Given the description of an element on the screen output the (x, y) to click on. 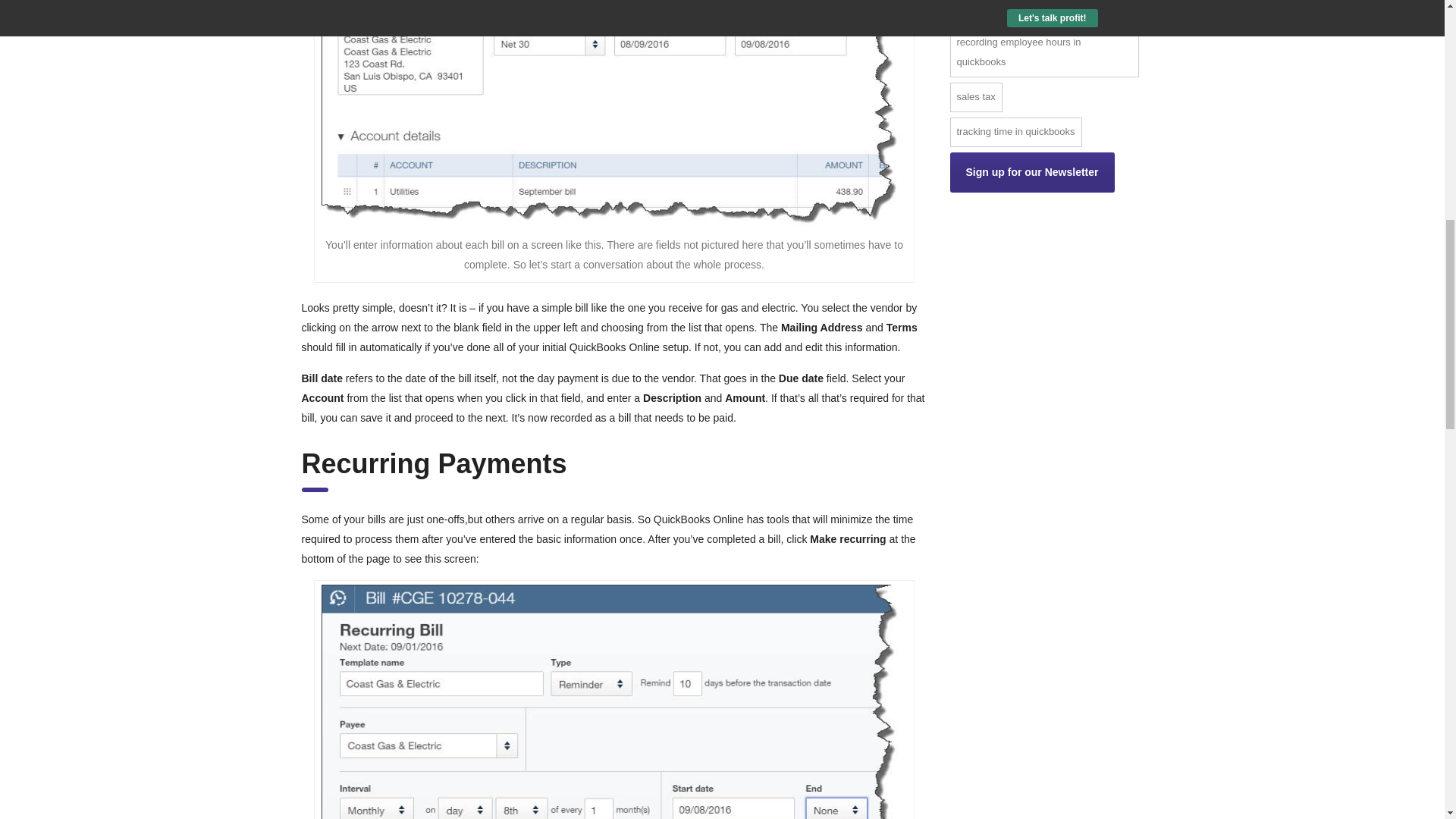
quicbooks (978, 11)
recording employee hours in quickbooks (1043, 51)
sales tax (975, 97)
tracking time in quickbooks (1015, 132)
Sign up for our Newsletter (1031, 172)
